Given the description of an element on the screen output the (x, y) to click on. 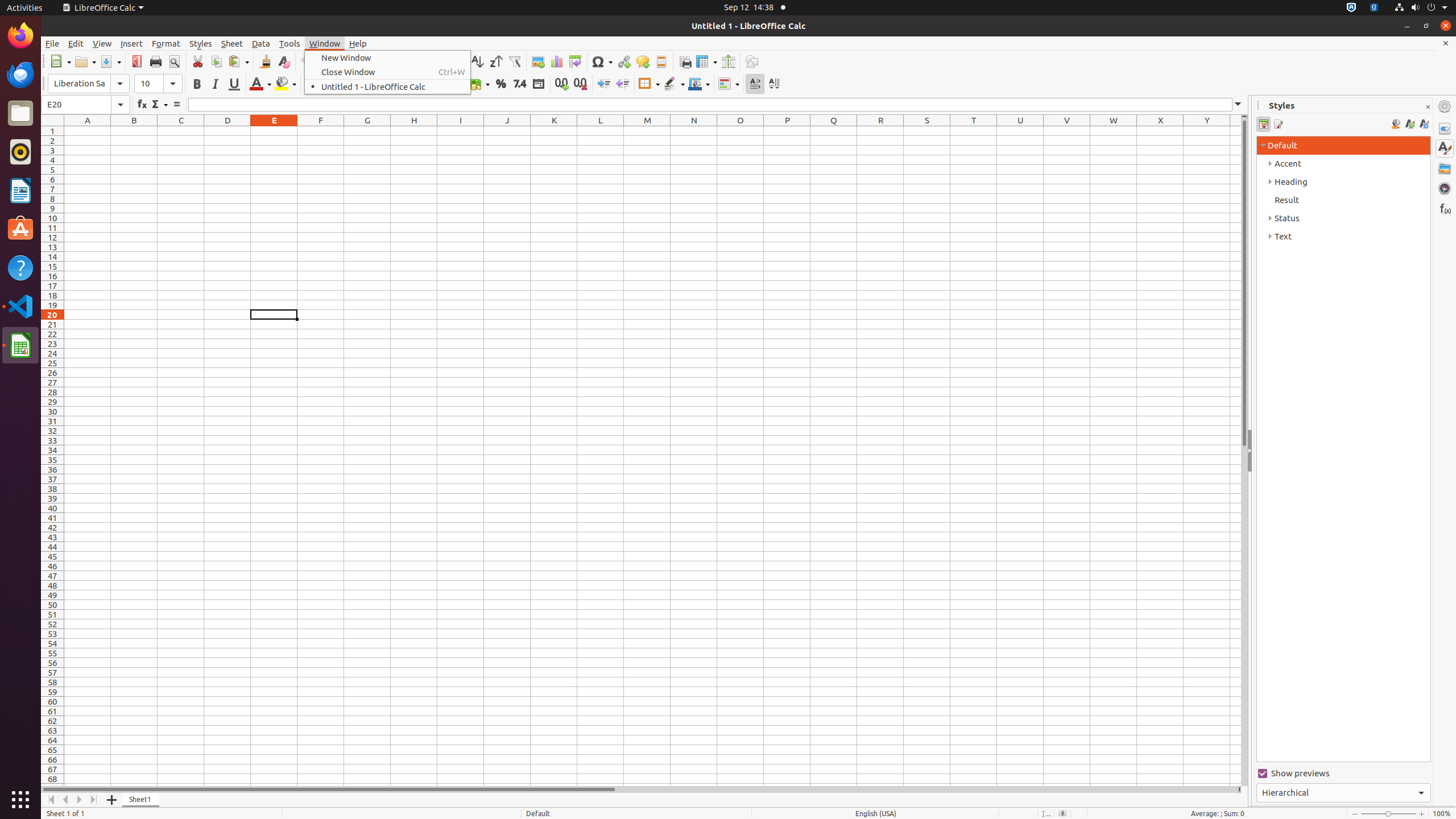
Cell Styles Element type: push-button (1263, 123)
Z1 Element type: table-cell (1235, 130)
Insert Element type: menu (131, 43)
H1 Element type: table-cell (413, 130)
Vertical scroll bar Element type: scroll-bar (1244, 451)
